Given the description of an element on the screen output the (x, y) to click on. 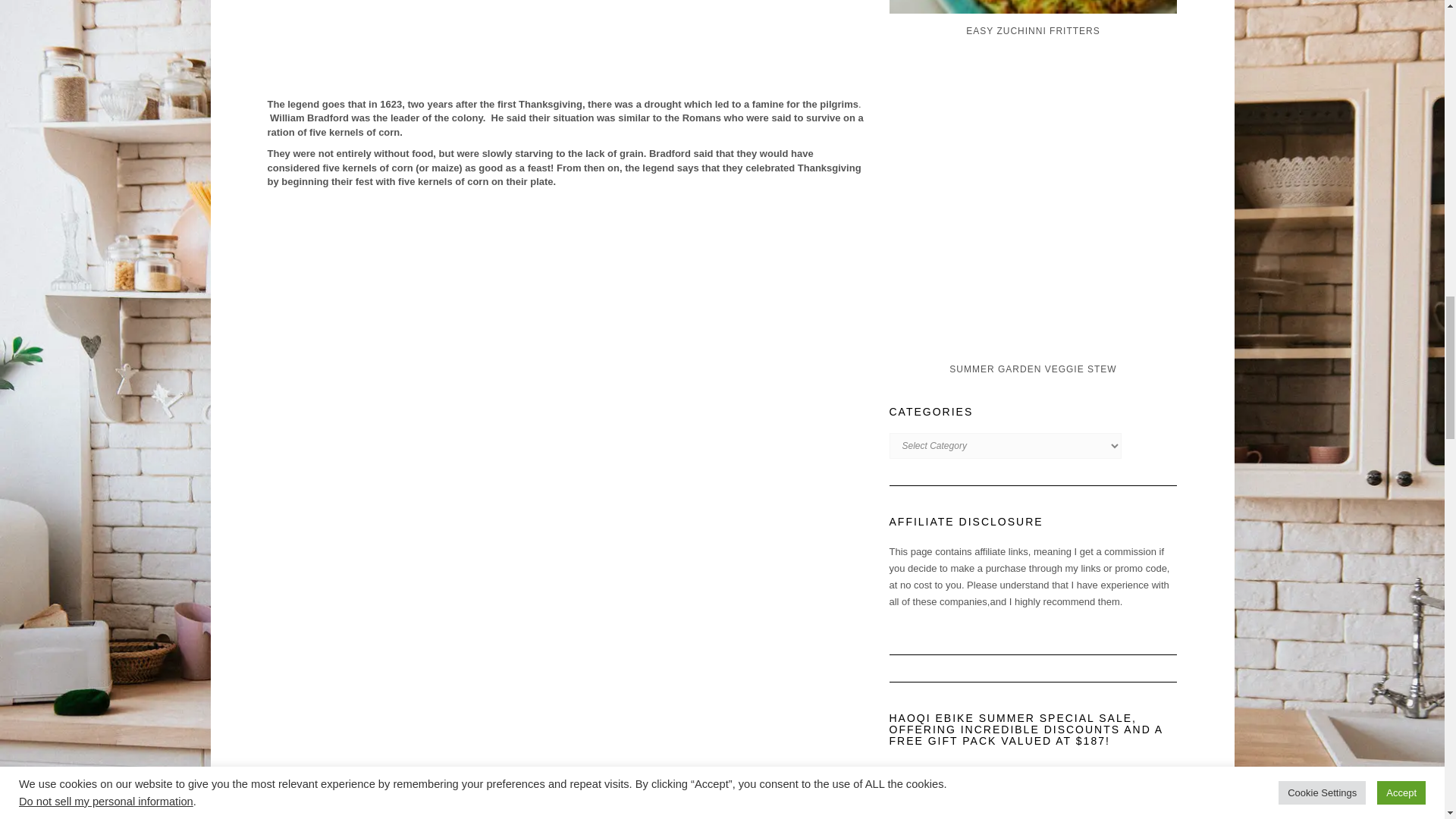
EASY ZUCHINNI FRITTERS (1035, 19)
SUMMER GARDEN VEGGIE STEW (1035, 287)
